Given the description of an element on the screen output the (x, y) to click on. 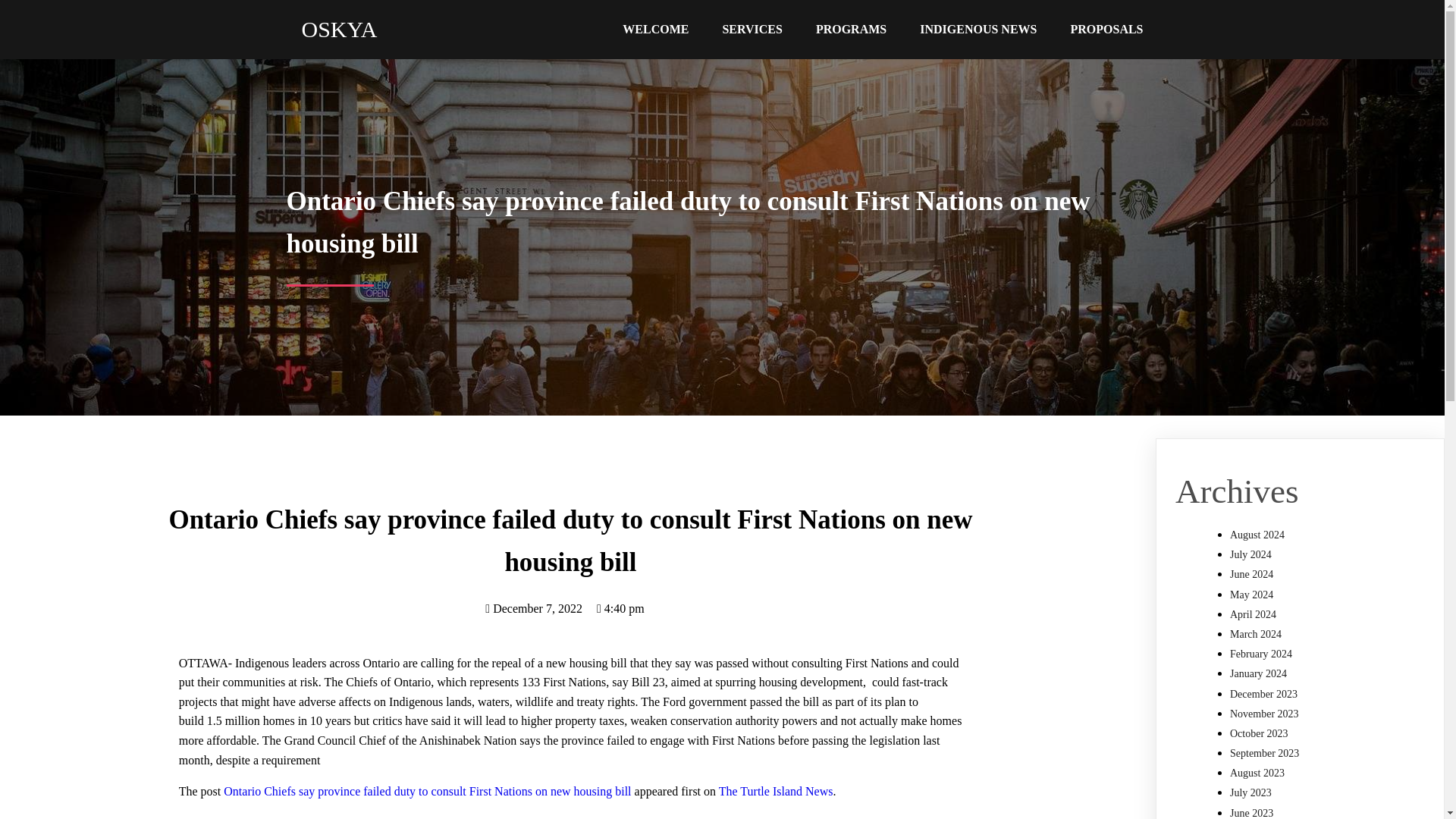
WELCOME (655, 29)
PROGRAMS (850, 29)
July 2023 (1250, 792)
February 2024 (1261, 654)
SERVICES (751, 29)
4:40 pm (620, 608)
August 2023 (1257, 772)
The Turtle Island News (775, 790)
PROPOSALS (1105, 29)
August 2024 (1257, 534)
